Given the description of an element on the screen output the (x, y) to click on. 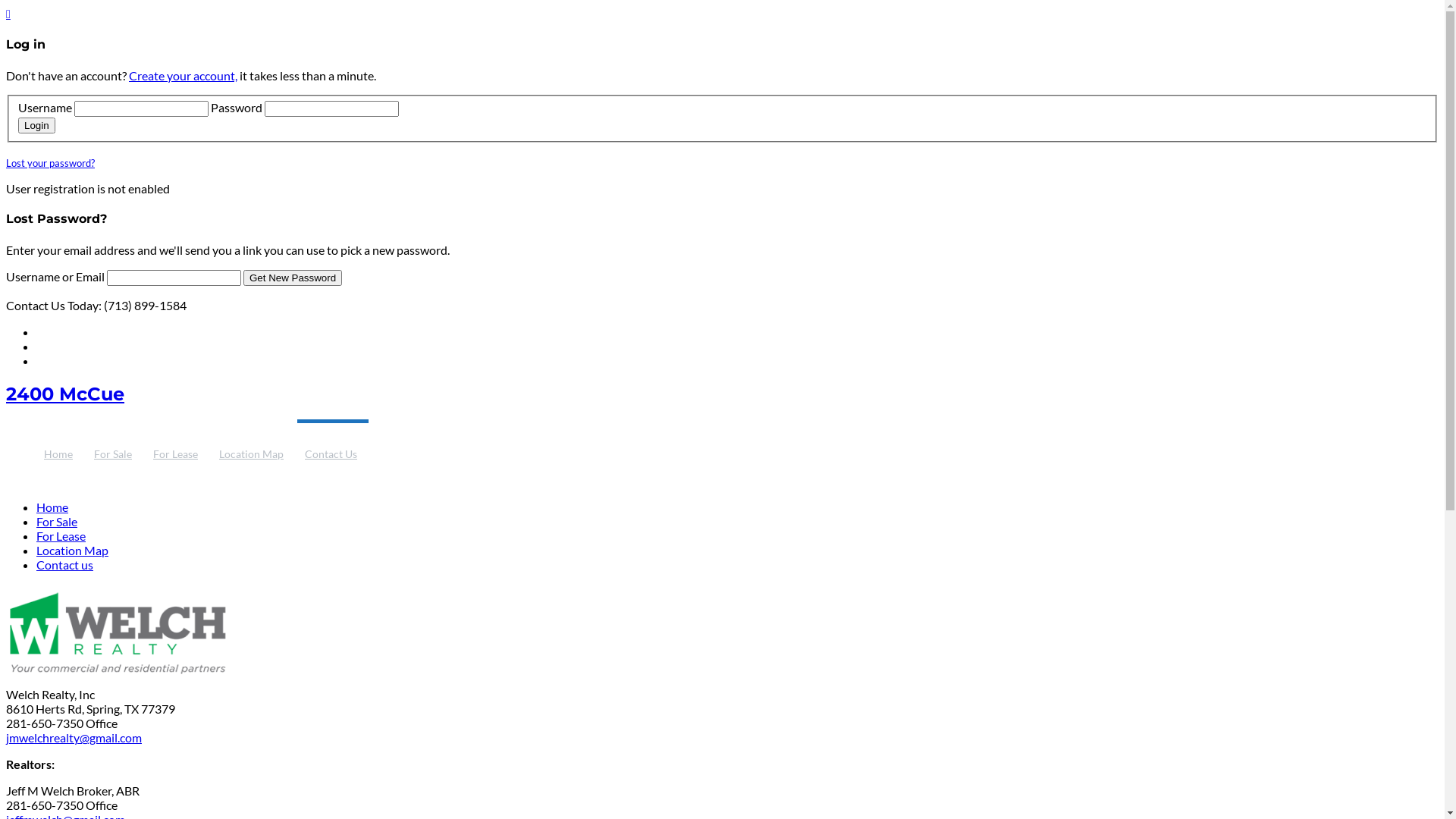
Location Map Element type: text (252, 445)
Home Element type: text (60, 445)
Create your account, Element type: text (182, 75)
Lost your password? Element type: text (50, 162)
For Lease Element type: text (177, 445)
For Sale Element type: text (114, 445)
2400 McCue Element type: text (65, 393)
Contact us Element type: text (64, 564)
Location Map Element type: text (72, 549)
Home Element type: text (52, 506)
jmwelchrealty@gmail.com Element type: text (73, 737)
Contact Us Element type: text (332, 445)
Login Element type: text (36, 125)
Get New Password Element type: text (292, 277)
For Lease Element type: text (60, 535)
For Sale Element type: text (56, 521)
